Given the description of an element on the screen output the (x, y) to click on. 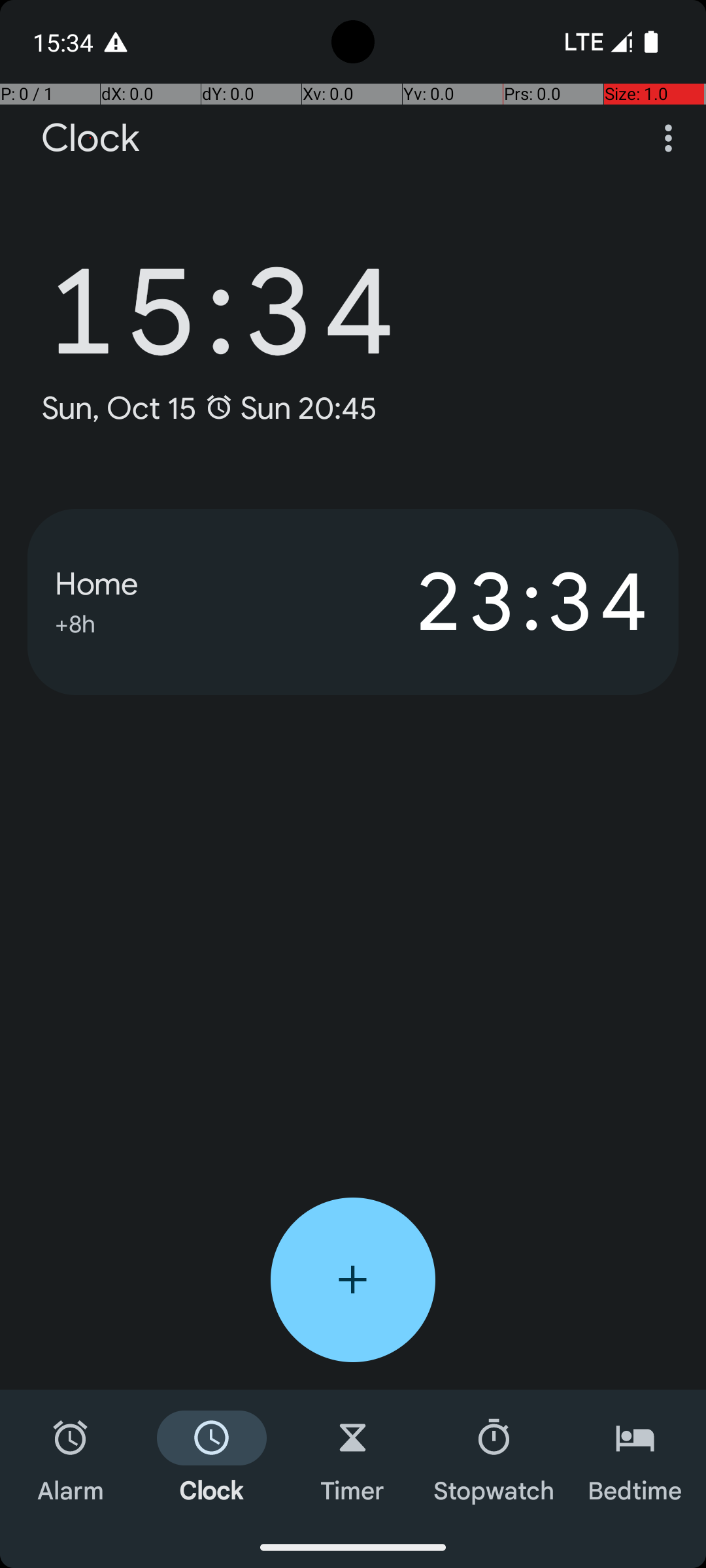
Add city Element type: android.widget.Button (352, 1279)
Sun, Oct 15 A Sun 20:45 Element type: android.widget.TextView (208, 407)
+8h Element type: android.widget.TextView (74, 621)
23:34 Element type: android.widget.TextView (502, 601)
